Given the description of an element on the screen output the (x, y) to click on. 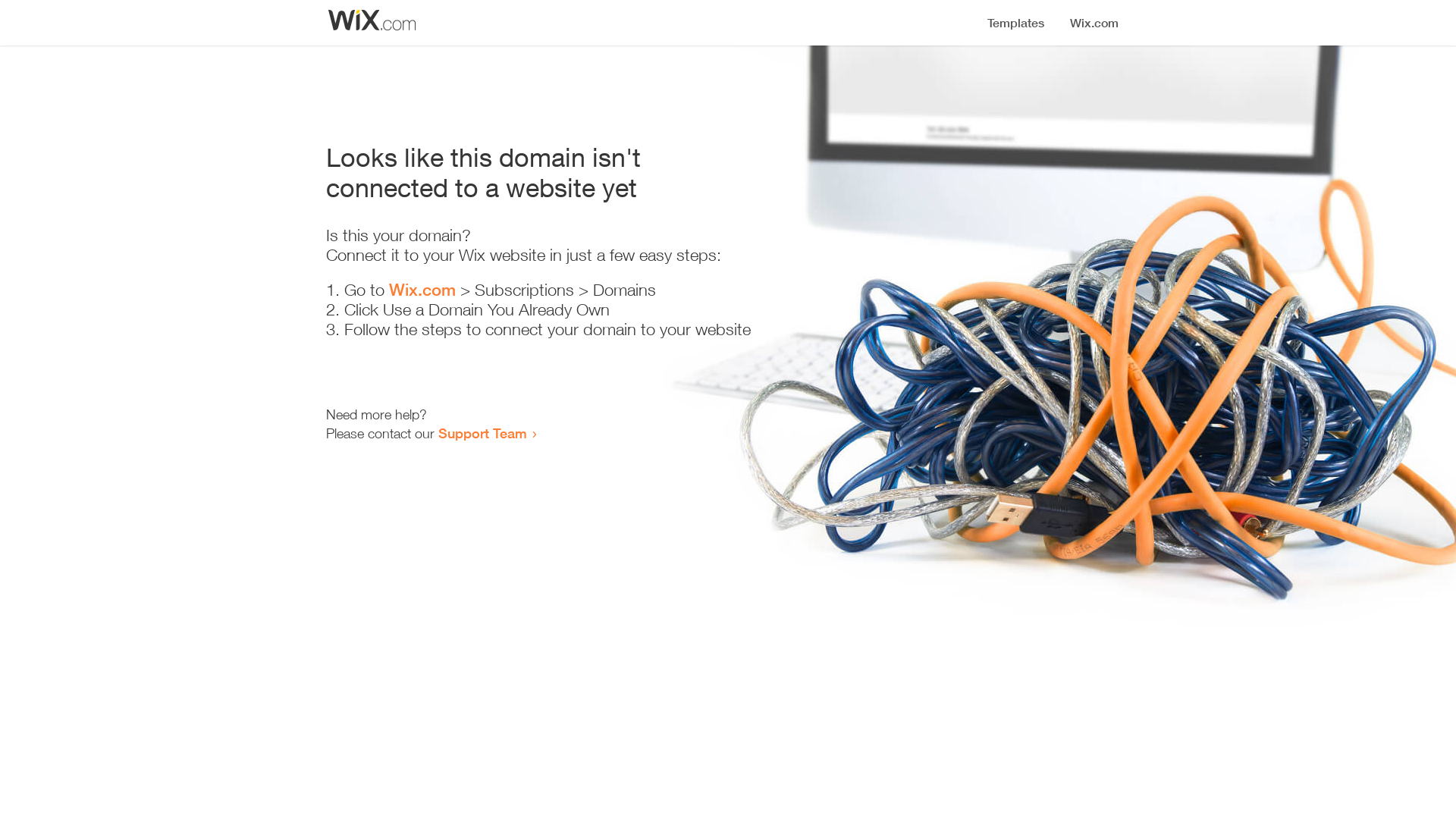
Wix.com Element type: text (422, 289)
Support Team Element type: text (482, 432)
